Given the description of an element on the screen output the (x, y) to click on. 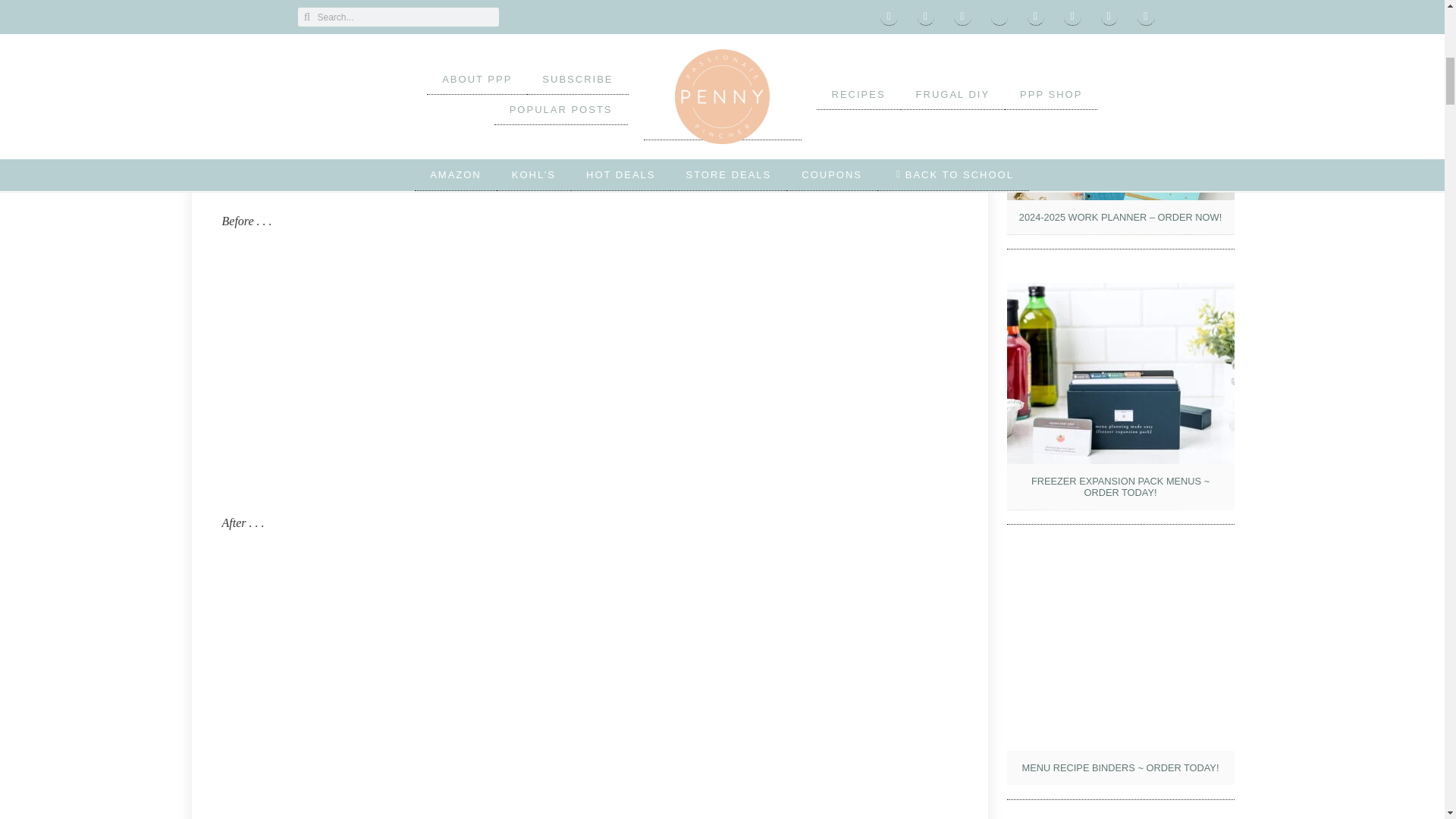
Work Planner - Order Now! (1120, 121)
